Given the description of an element on the screen output the (x, y) to click on. 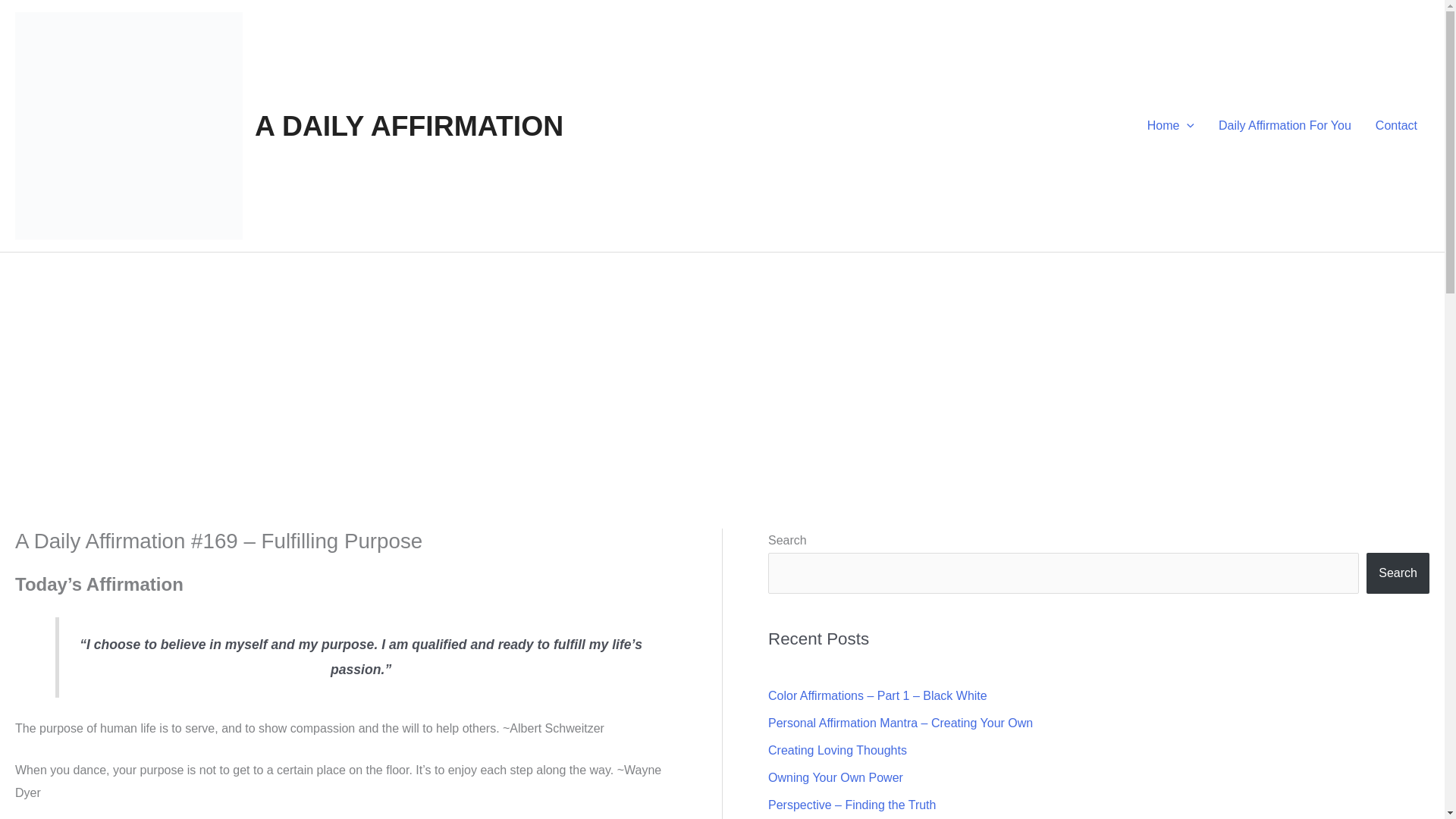
Contact (1395, 125)
A DAILY AFFIRMATION (408, 125)
Home (1171, 125)
Daily Affirmation For You (1284, 125)
